Given the description of an element on the screen output the (x, y) to click on. 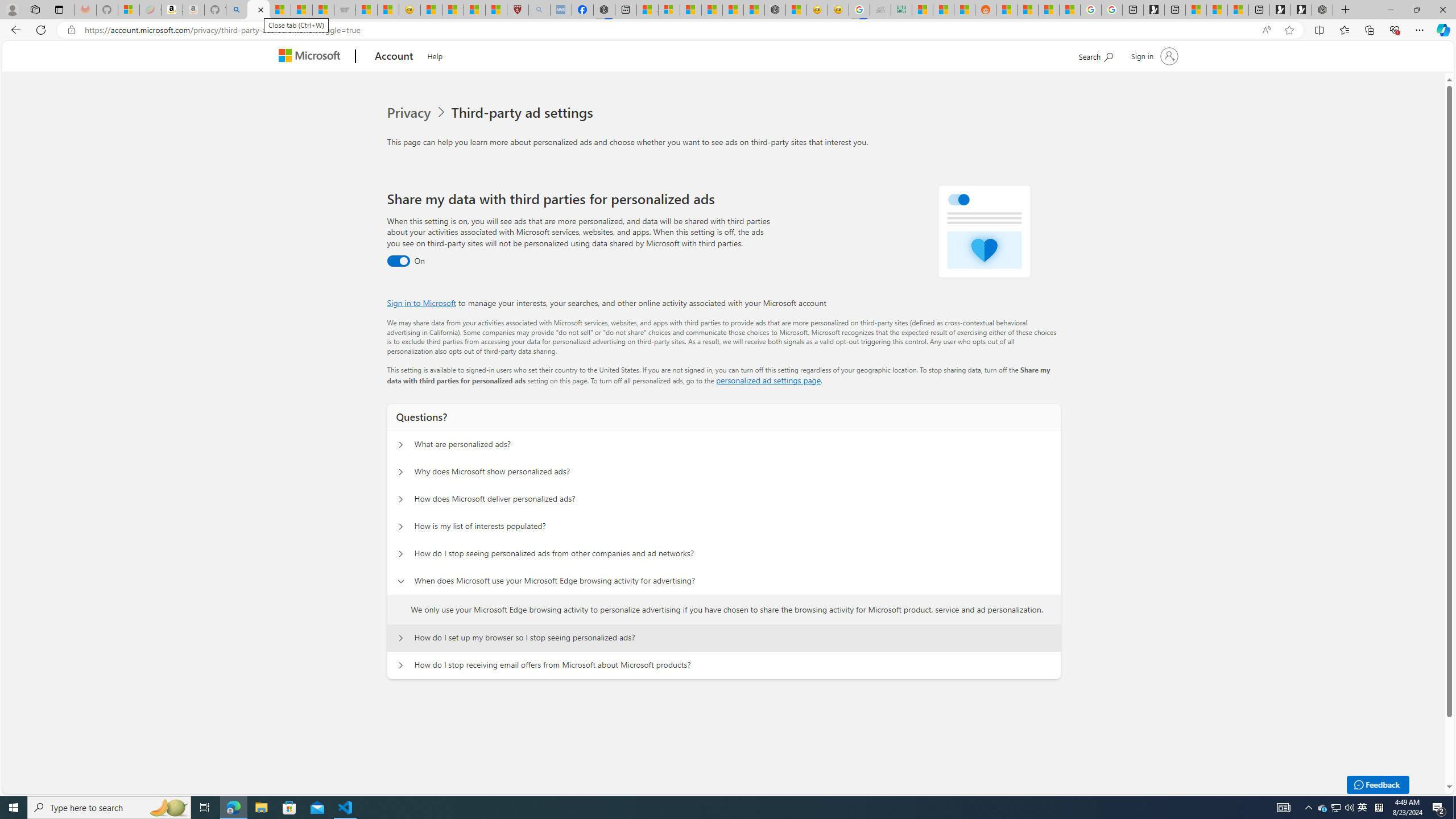
12 Popular Science Lies that Must be Corrected (496, 9)
Help (434, 54)
